Given the description of an element on the screen output the (x, y) to click on. 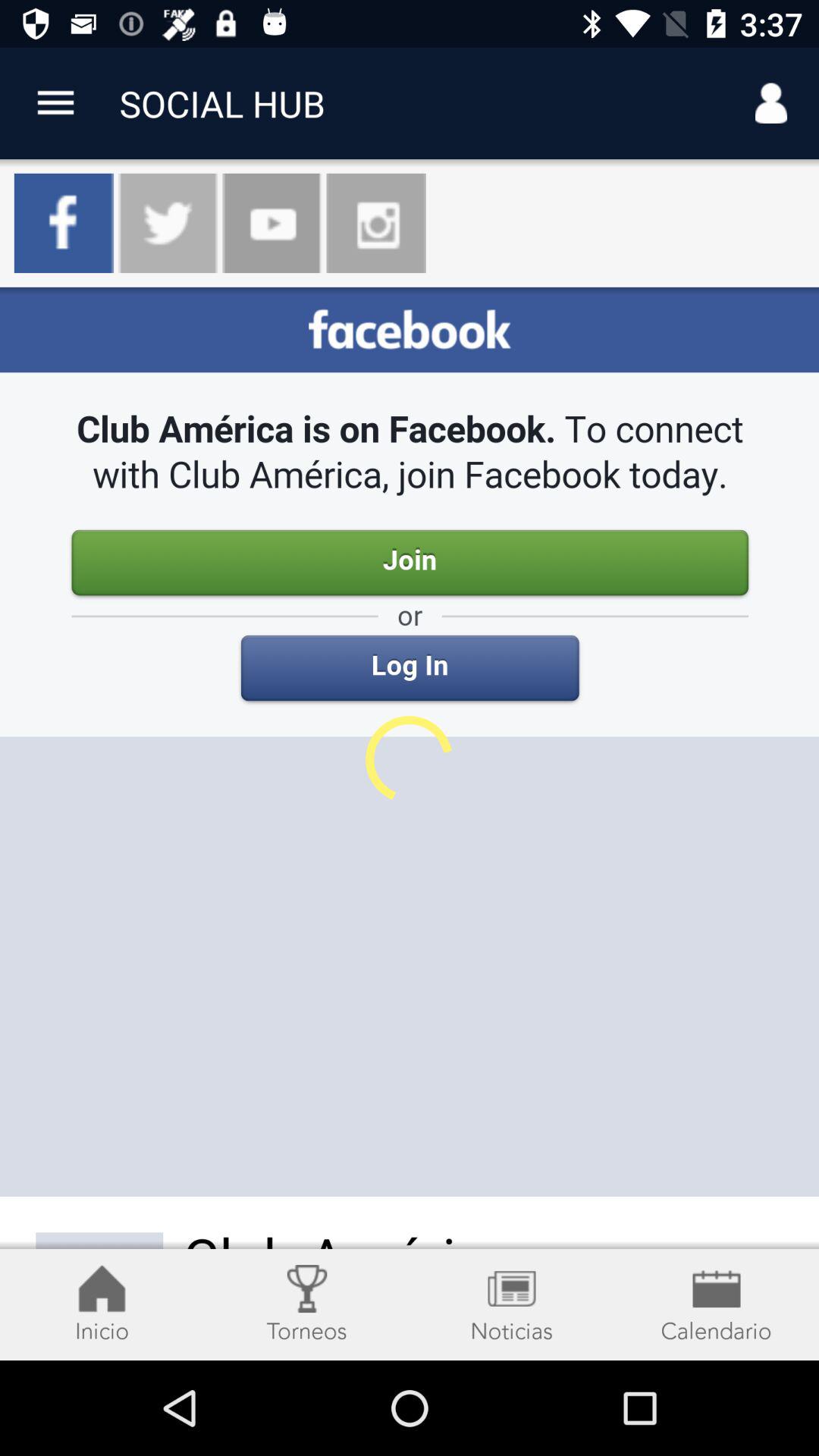
view menu (55, 103)
